Given the description of an element on the screen output the (x, y) to click on. 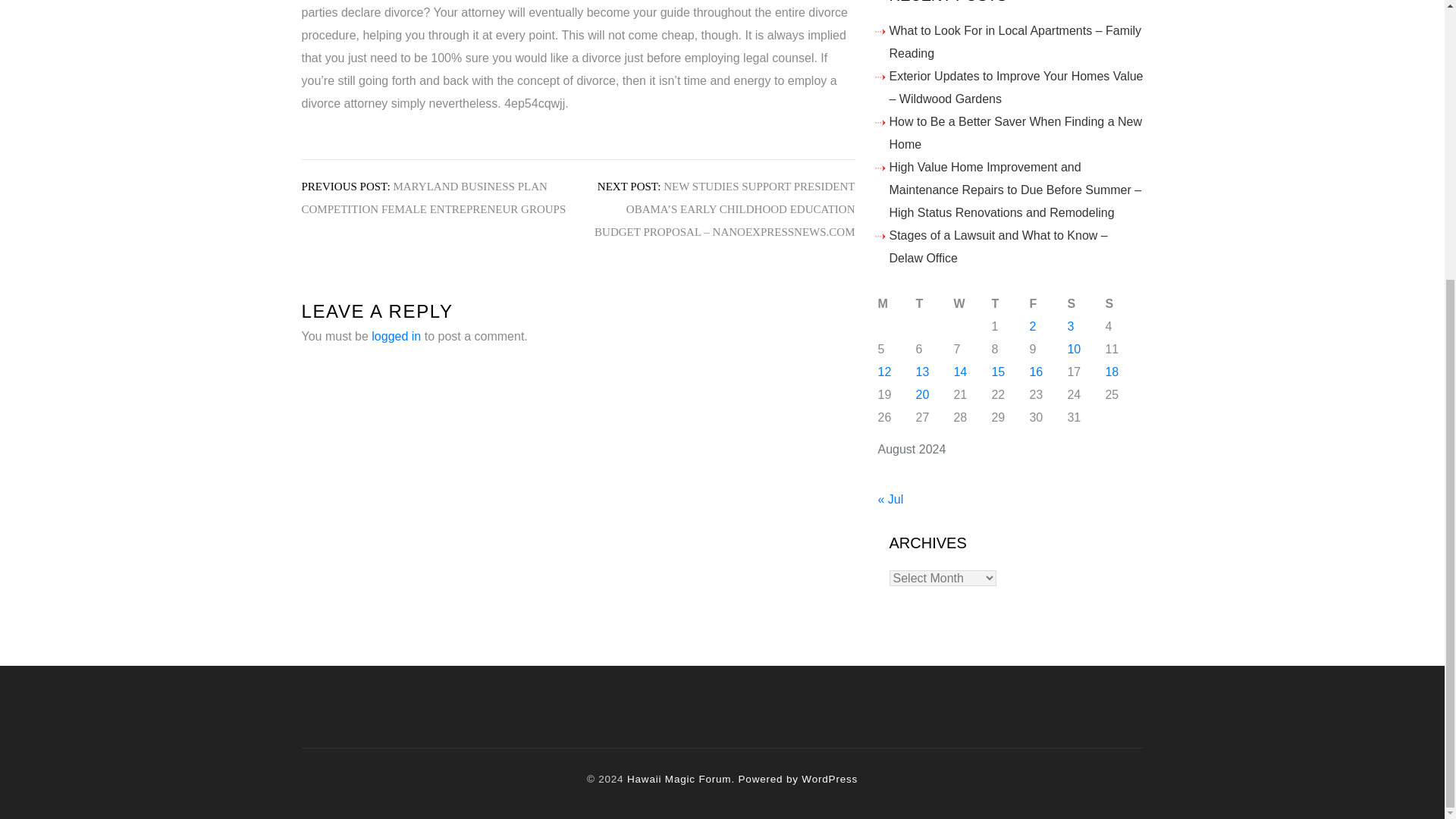
logged in (395, 336)
Powered by WordPress (798, 778)
18 (1111, 371)
How to Be a Better Saver When Finding a New Home (1014, 132)
13 (921, 371)
14 (959, 371)
Hawaii Magic Forum. (681, 778)
Friday (1048, 303)
Sunday (1123, 303)
20 (921, 394)
